Given the description of an element on the screen output the (x, y) to click on. 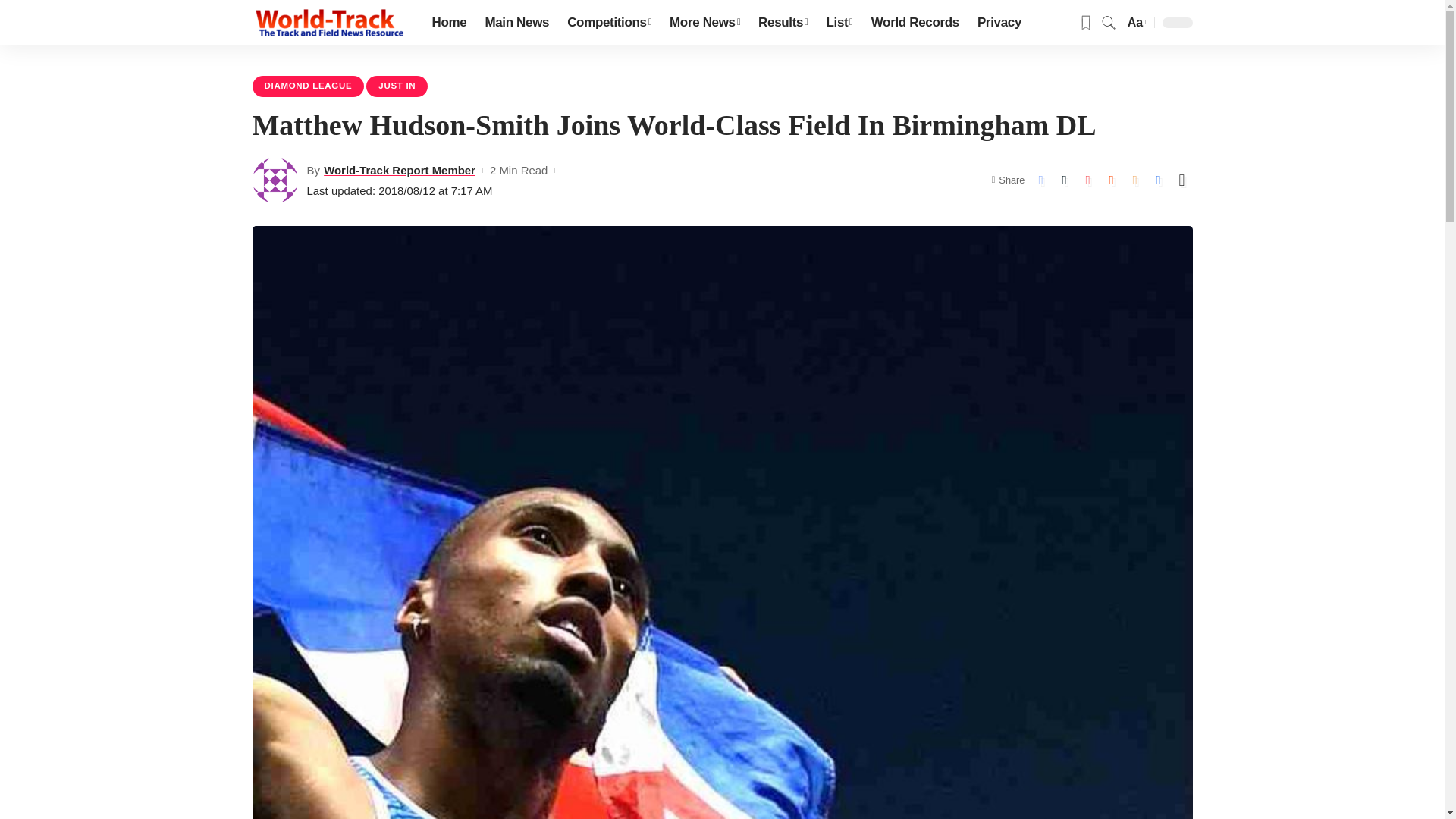
More News (705, 22)
Main News (516, 22)
Home (449, 22)
Competitions (609, 22)
List (838, 22)
World Records (914, 22)
Results (782, 22)
World-Track and Field (329, 22)
Privacy (999, 22)
